Given the description of an element on the screen output the (x, y) to click on. 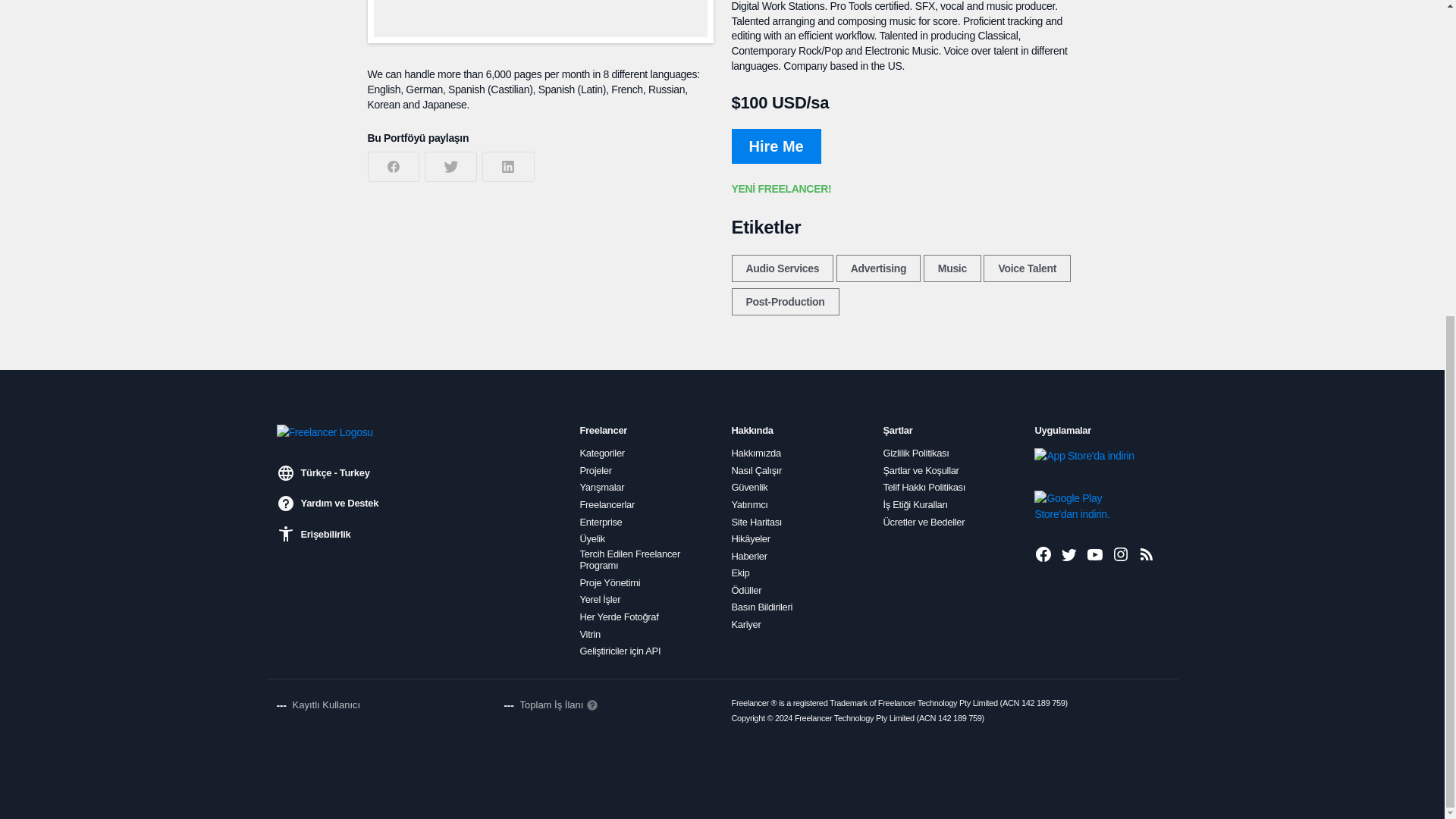
Instagram'da Freelancer (1120, 554)
Vitrin (589, 634)
Enterprise (600, 522)
Freelancerlar (606, 504)
En Son Projeler (1146, 554)
Voice Talent (1027, 267)
Youtube'da Freelancer (1094, 554)
Music (952, 267)
Post-Production (784, 301)
Audio Services (781, 267)
